Given the description of an element on the screen output the (x, y) to click on. 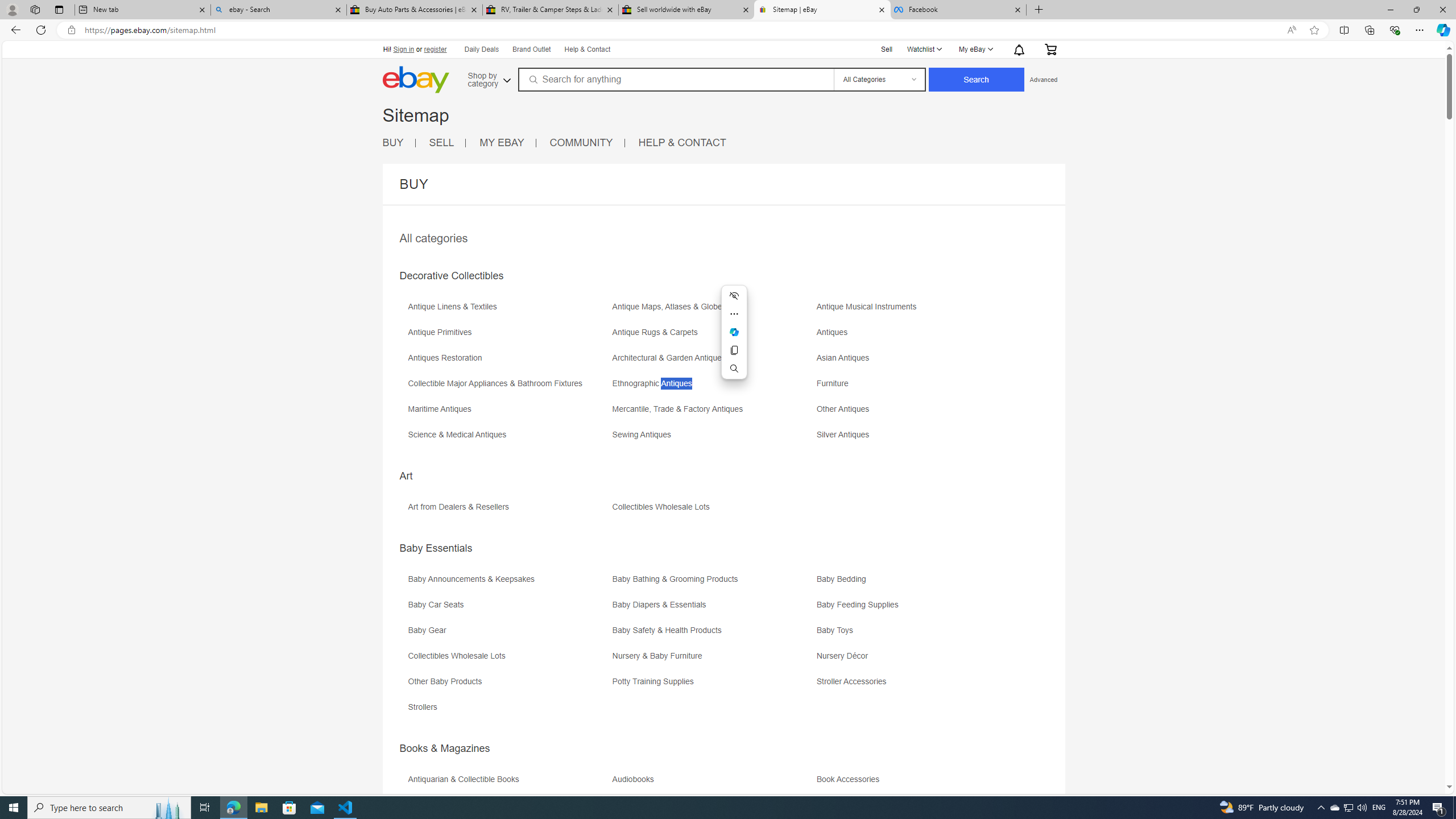
Baby Announcements & Keepsakes (508, 582)
Ask Copilot (734, 331)
Notification (1019, 49)
Mercantile, Trade & Factory Antiques (712, 412)
Notification (1018, 49)
MY EBAY (501, 142)
Antique Musical Instruments (917, 310)
Antique Linens & Textiles (508, 310)
Antique Musical Instruments (869, 306)
Baby Gear (508, 634)
Baby Car Seats (508, 608)
